Given the description of an element on the screen output the (x, y) to click on. 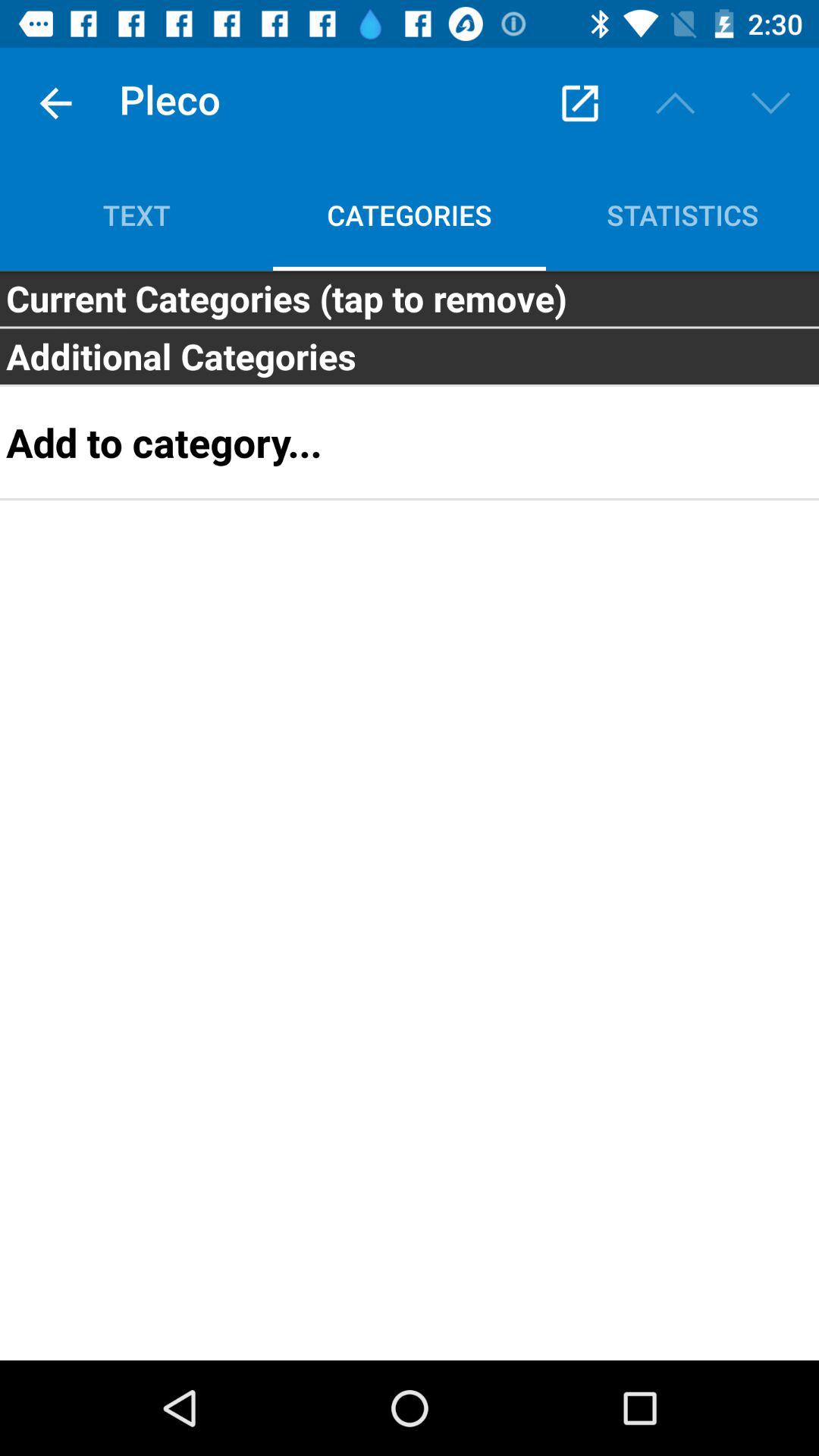
click icon next to categories item (682, 214)
